Given the description of an element on the screen output the (x, y) to click on. 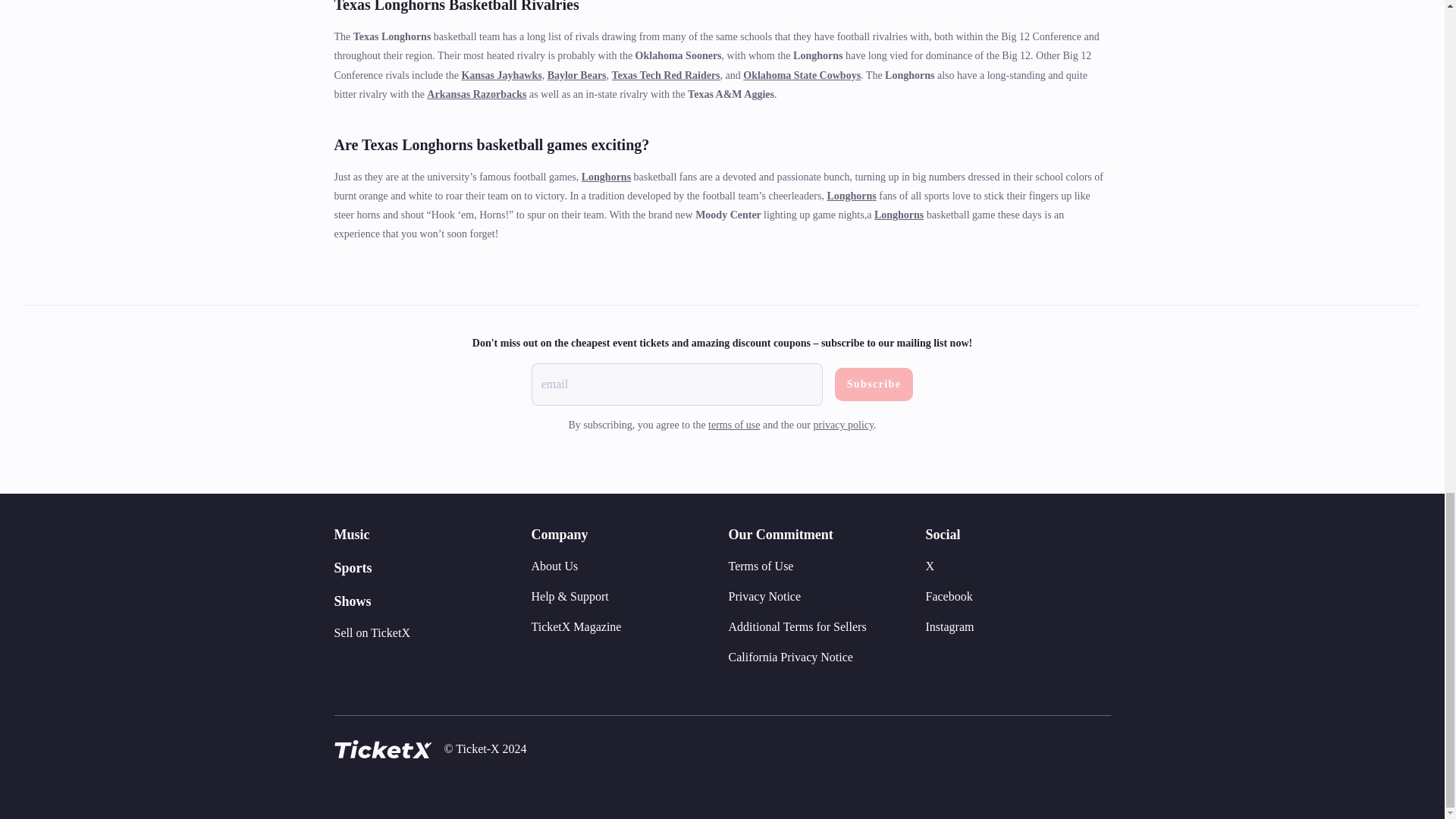
Oklahoma State Cowboys (801, 75)
Kansas Jayhawks (501, 75)
Texas Tech Red Raiders (665, 75)
Baylor Bears (577, 75)
